Given the description of an element on the screen output the (x, y) to click on. 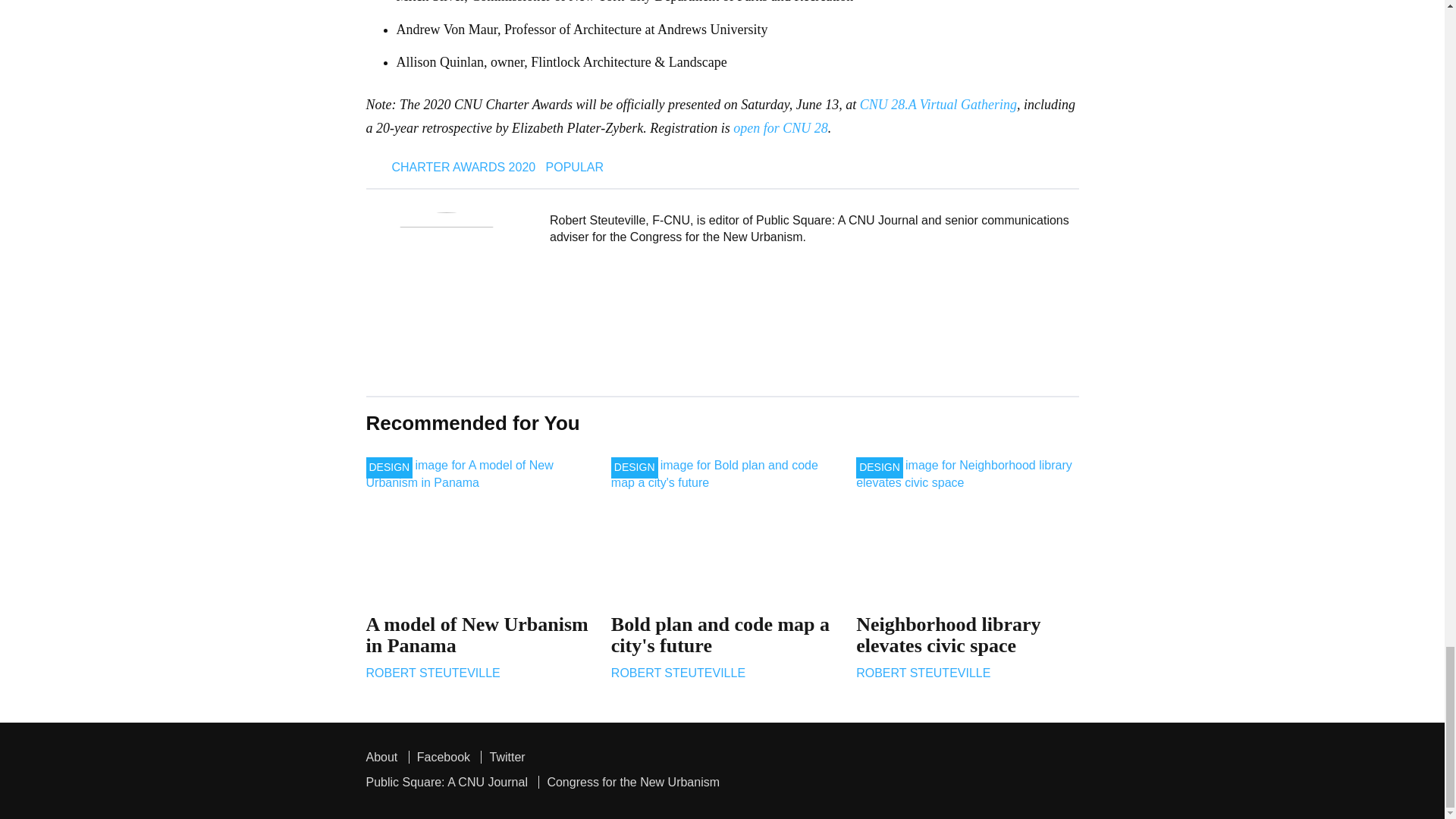
Neighborhood library elevates civic space (967, 527)
Bold plan and code map a city's future (721, 527)
CNU 28.A Virtual Gathering (938, 104)
CHARTER AWARDS 2020 (463, 167)
A model of New Urbanism in Panama (476, 527)
open for CNU 28 (780, 127)
